Given the description of an element on the screen output the (x, y) to click on. 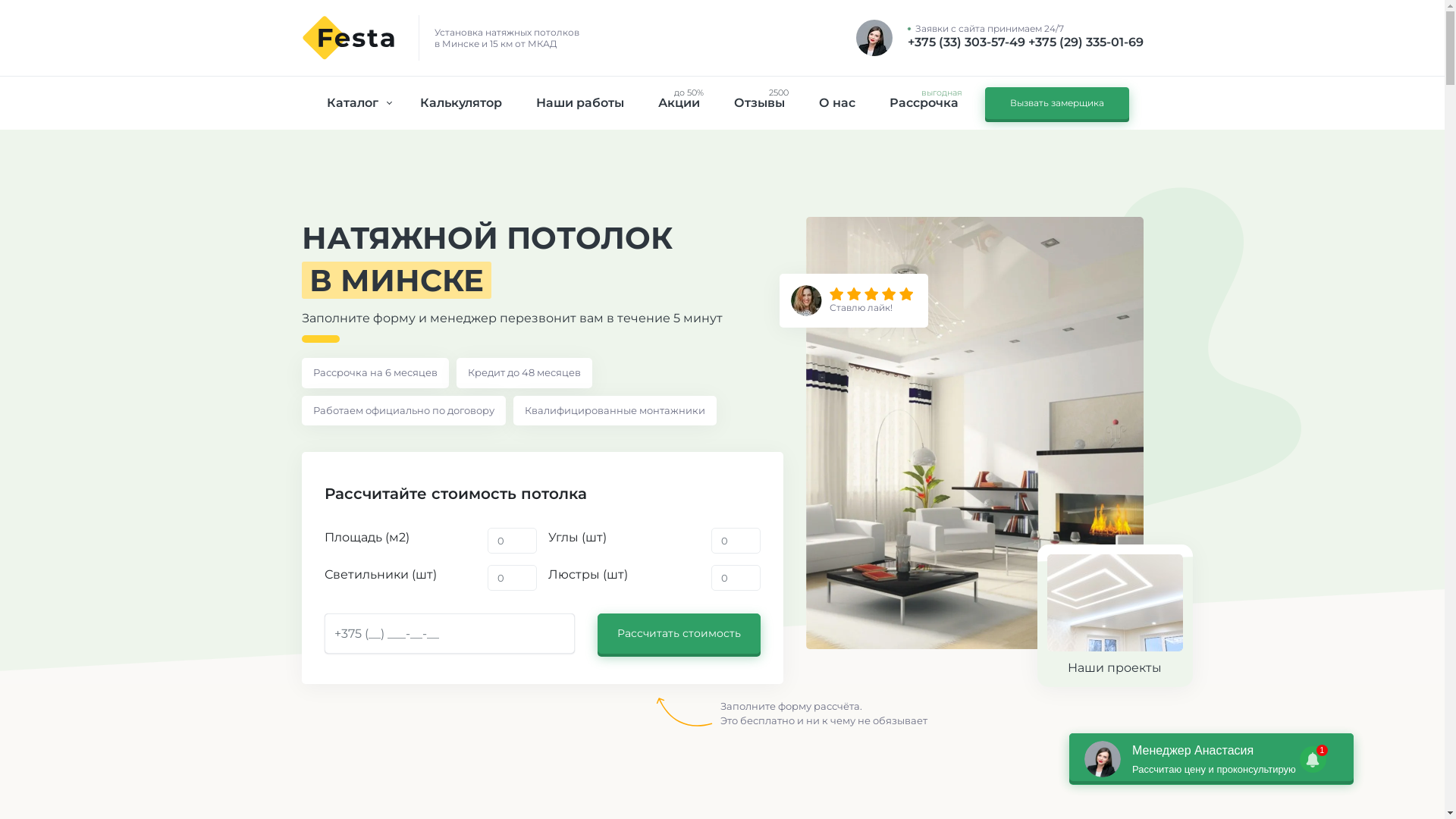
+375 (**) ***-**-** Element type: hover (449, 633)
+375 (33) 303-57-49 Element type: text (966, 41)
+375 (29) 335-01-69 Element type: text (1085, 41)
